Given the description of an element on the screen output the (x, y) to click on. 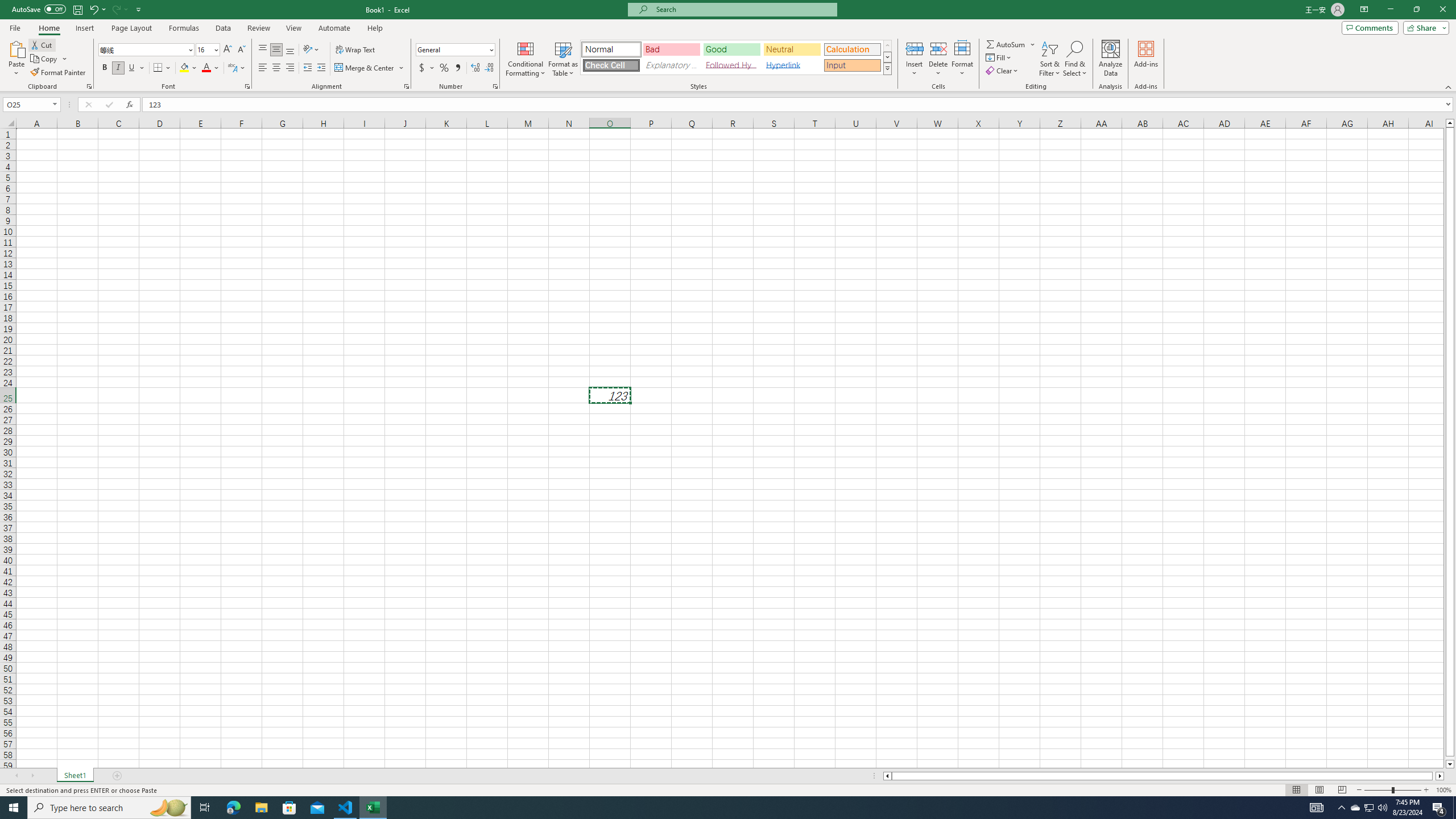
Calculation (852, 49)
Copy (49, 58)
Explanatory Text (671, 65)
Format Cell Alignment (405, 85)
Check Cell (611, 65)
Fill Color (188, 67)
